Given the description of an element on the screen output the (x, y) to click on. 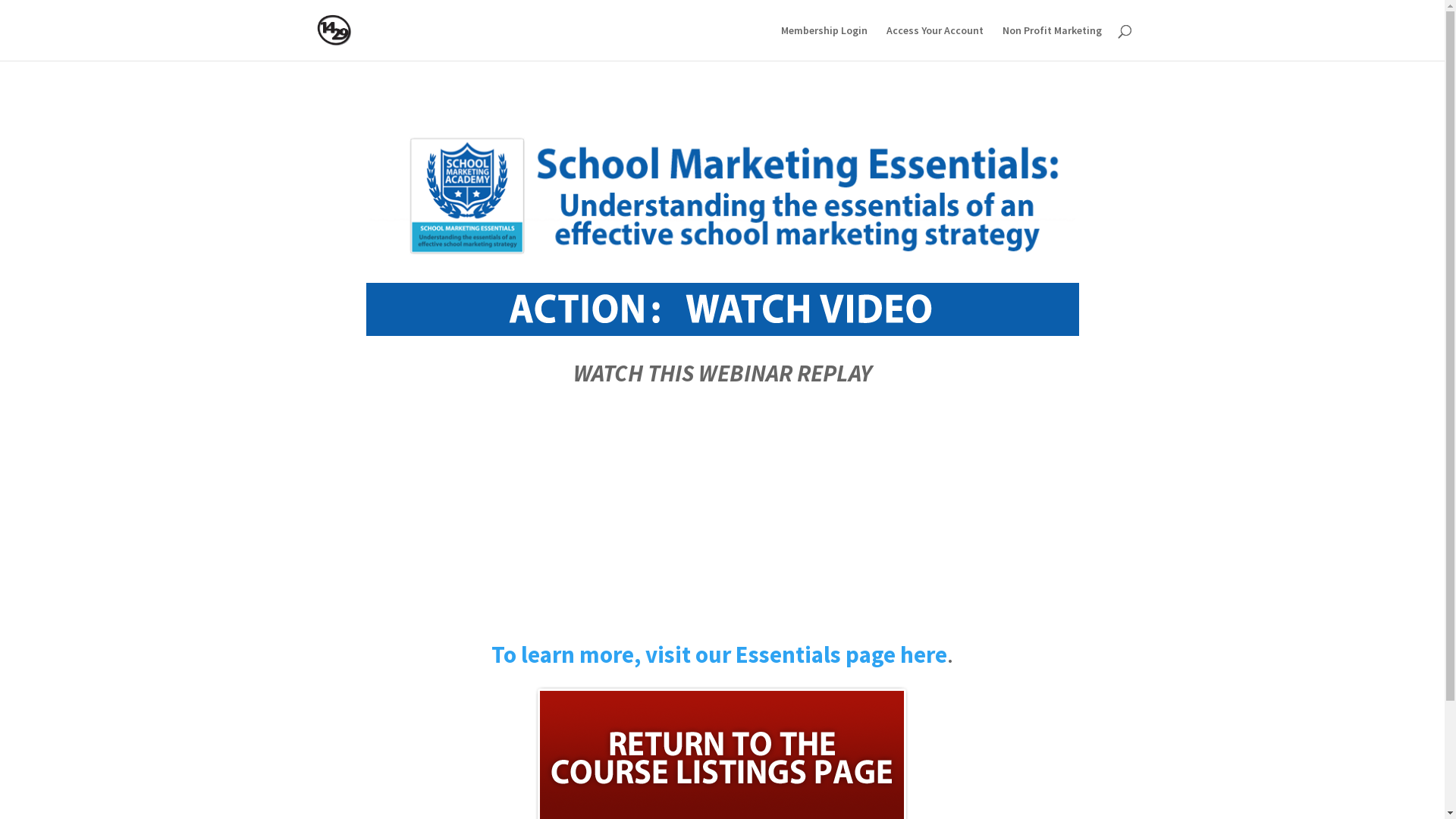
To learn more, visit our Essentials page here Element type: text (719, 653)
Access Your Account Element type: text (933, 42)
Non Profit Marketing Element type: text (1051, 42)
Membership Login Element type: text (824, 42)
